Given the description of an element on the screen output the (x, y) to click on. 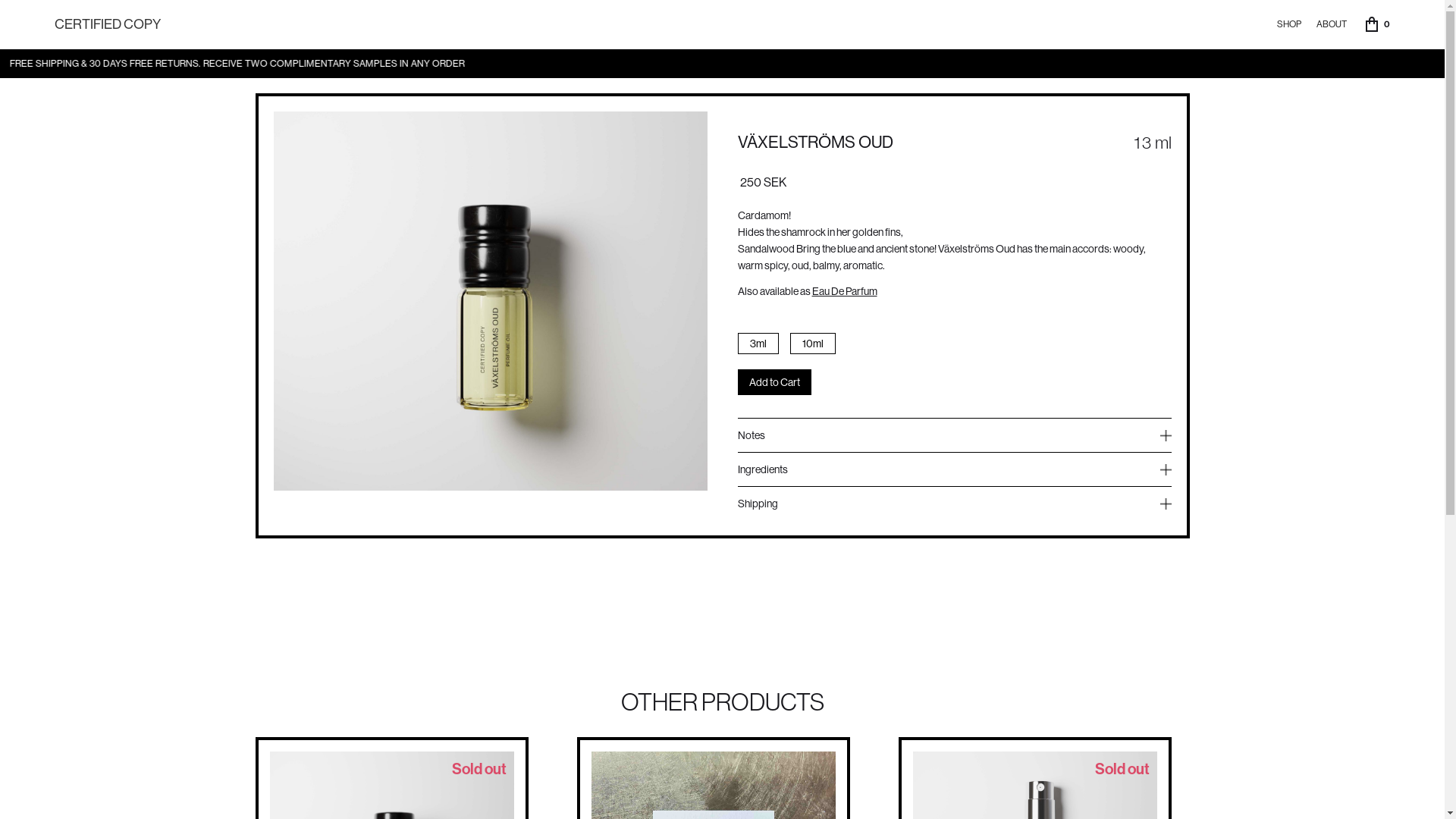
CERTIFIED COPY Element type: text (107, 23)
Add to Cart Element type: text (773, 382)
Eau De Parfum Element type: text (843, 291)
SHOP Element type: text (1289, 24)
0 Element type: text (1377, 23)
ABOUT Element type: text (1331, 24)
